Given the description of an element on the screen output the (x, y) to click on. 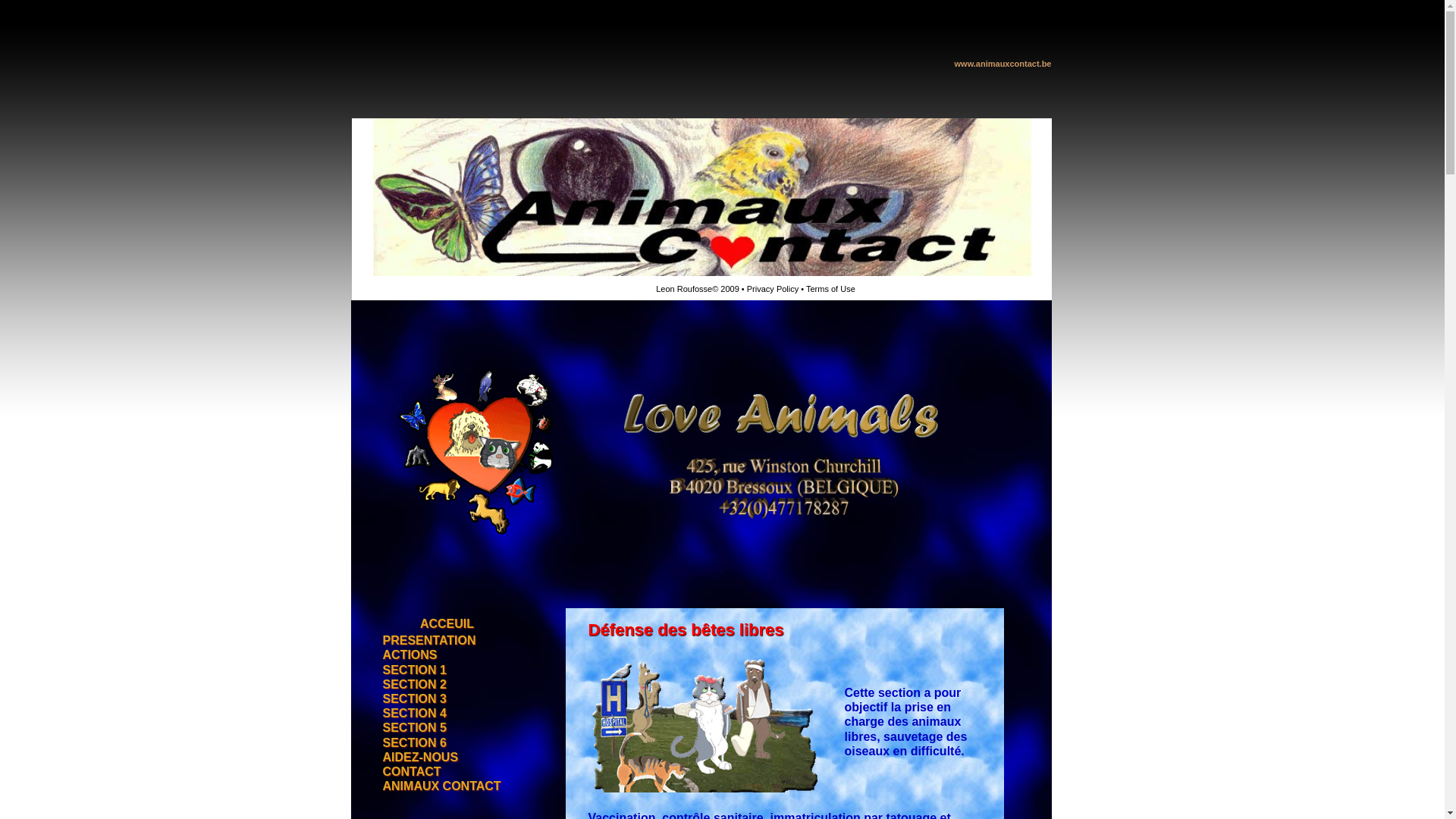
SECTION 4 Element type: text (413, 713)
Historique Element type: text (442, 357)
SECTION 6 Element type: text (413, 742)
News Element type: text (442, 419)
Accueil Element type: text (442, 337)
SECTION 5 Element type: text (413, 728)
En vrac Element type: text (442, 501)
PRESENTATION Element type: text (428, 640)
www.animauxcontact.be Element type: text (1002, 63)
ACCEUIL Element type: text (446, 624)
Dossiers Element type: text (442, 398)
CONTACT Element type: text (411, 772)
Meilleurs Voeux Element type: text (442, 593)
SECTION 2 Element type: text (413, 684)
Attention danger Element type: text (442, 573)
SECTION 1 Element type: text (413, 670)
AIDEZ-NOUS Element type: text (420, 757)
ANIMAUX CONTACT Element type: text (441, 786)
ACTIONS Element type: text (409, 655)
Campagne Element type: text (442, 378)
Archives Element type: text (442, 439)
Nous vous disons tout Element type: text (442, 521)
SECTION 3 Element type: text (413, 699)
